Given the description of an element on the screen output the (x, y) to click on. 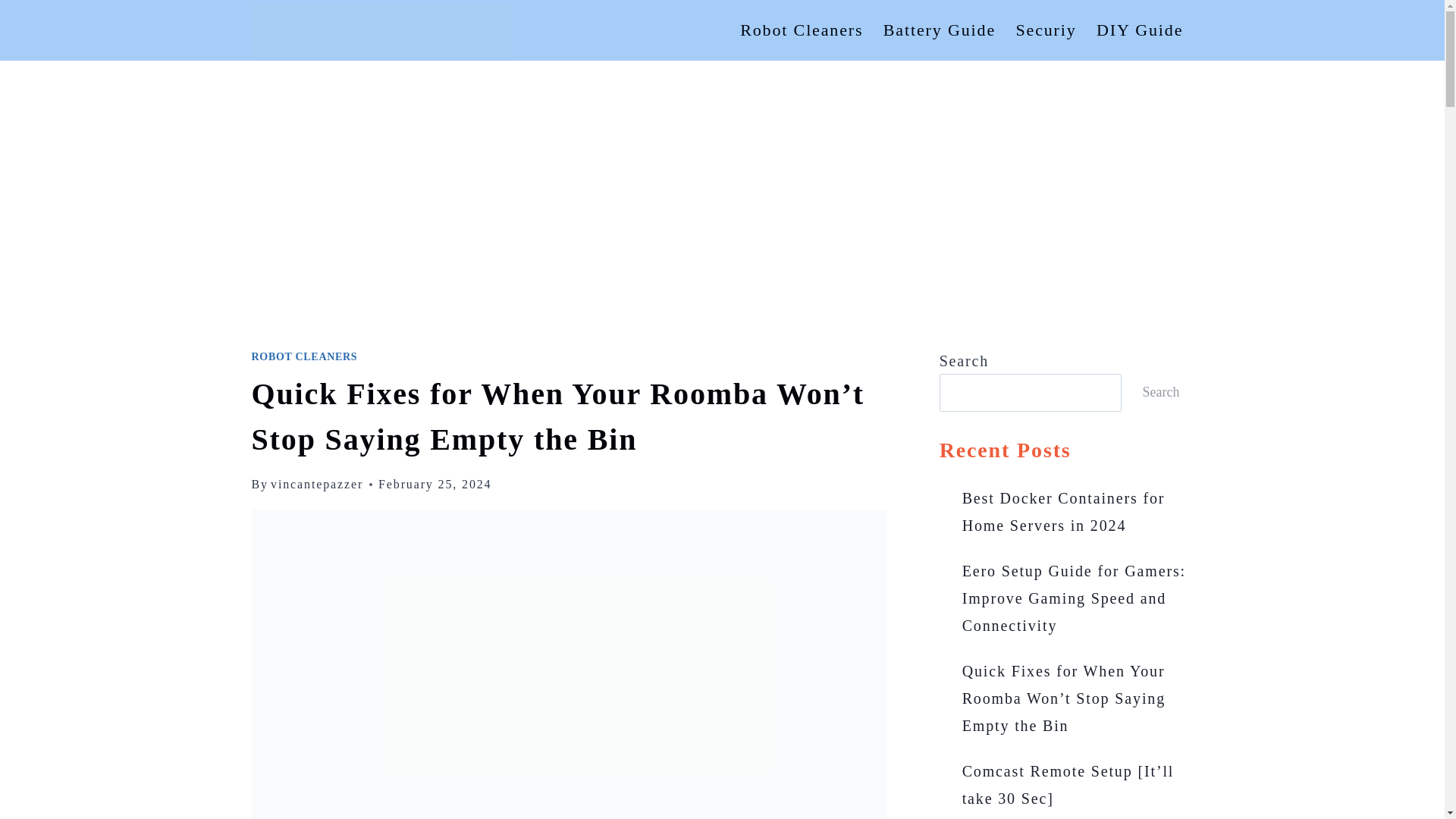
Securiy (1046, 30)
ROBOT CLEANERS (304, 356)
Robot Cleaners (801, 30)
Battery Guide (939, 30)
DIY Guide (1139, 30)
vincantepazzer (316, 483)
